Given the description of an element on the screen output the (x, y) to click on. 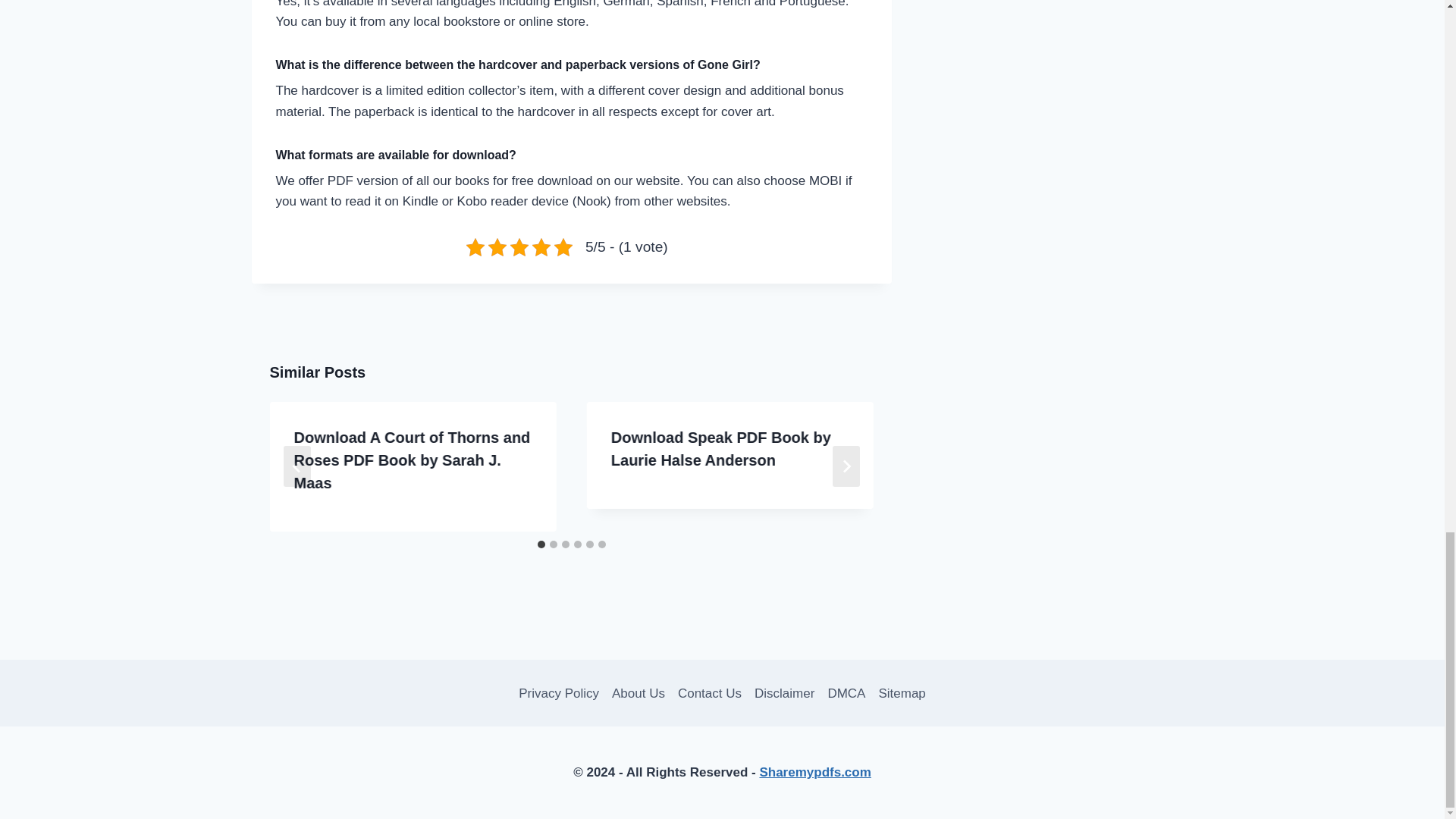
Download Speak PDF Book by Laurie Halse Anderson (721, 448)
